Given the description of an element on the screen output the (x, y) to click on. 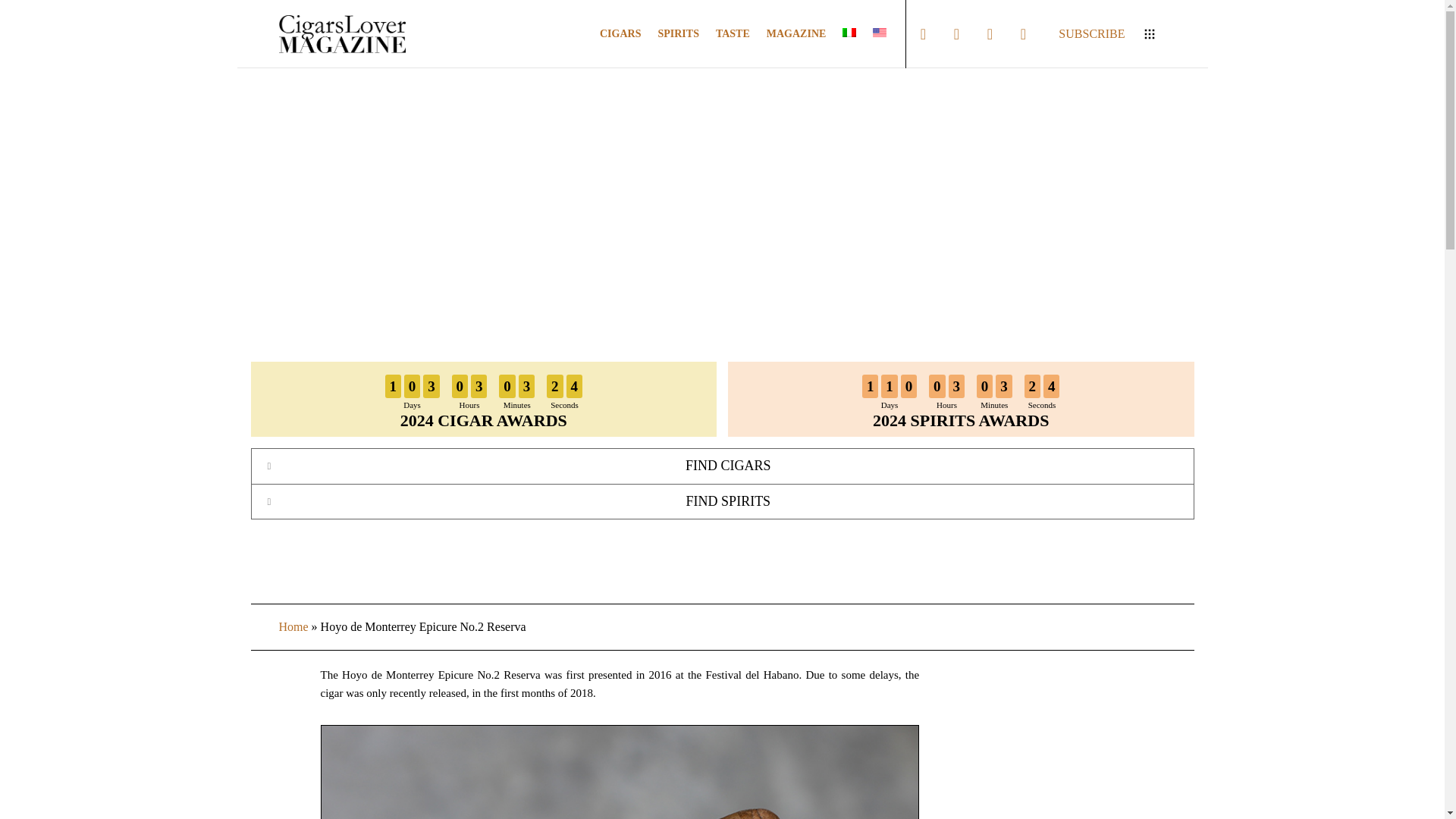
MAGAZINE (788, 33)
Days (412, 405)
Minutes (993, 405)
Hours (946, 405)
Minutes (517, 405)
FIND CIGARS (721, 465)
Days (888, 405)
Hours (469, 405)
Seconds (1041, 405)
